Given the description of an element on the screen output the (x, y) to click on. 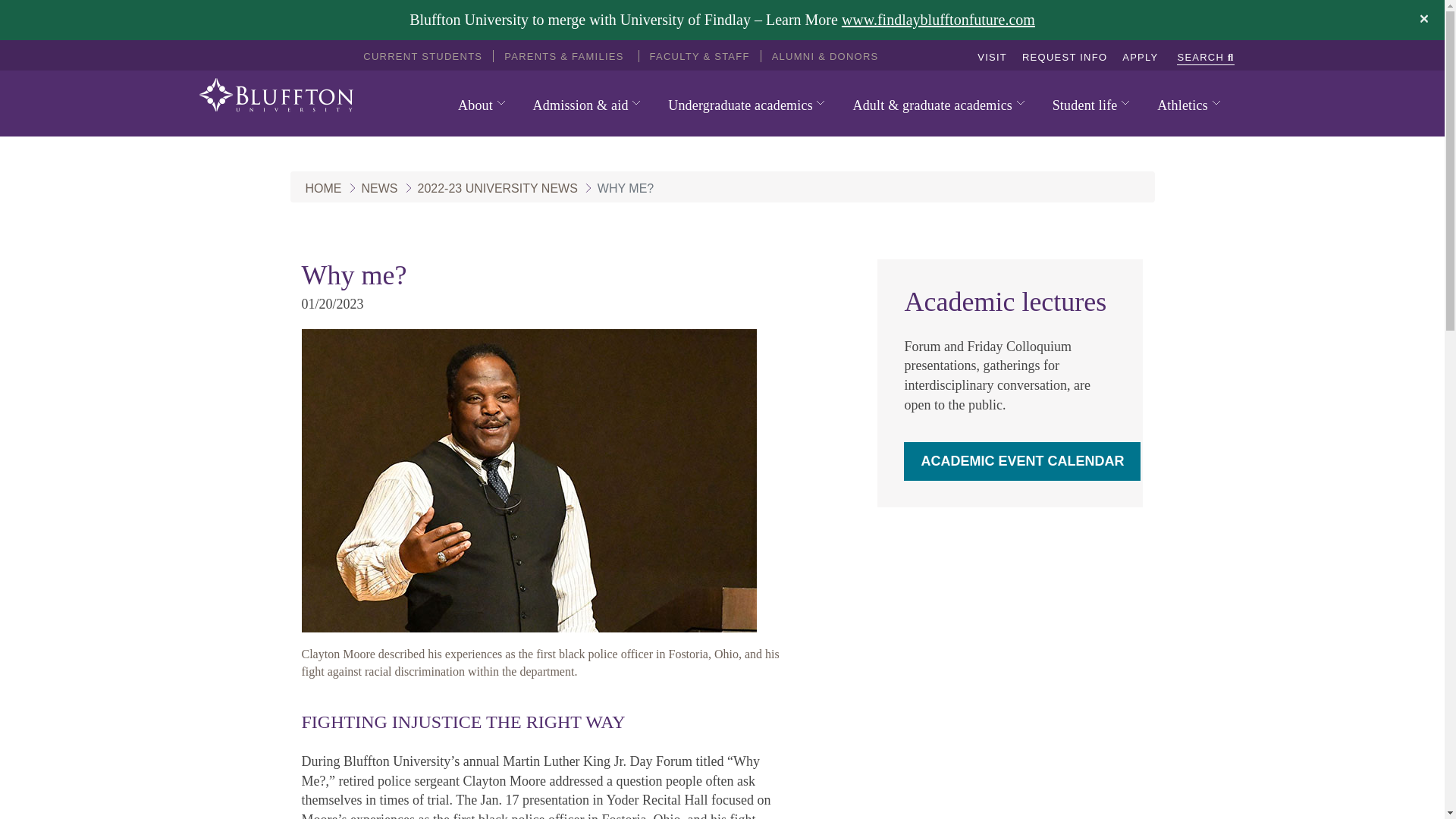
Student life (1090, 105)
Undergraduate academics (745, 105)
About (481, 105)
www.findlayblufftonfuture.com (938, 19)
